Given the description of an element on the screen output the (x, y) to click on. 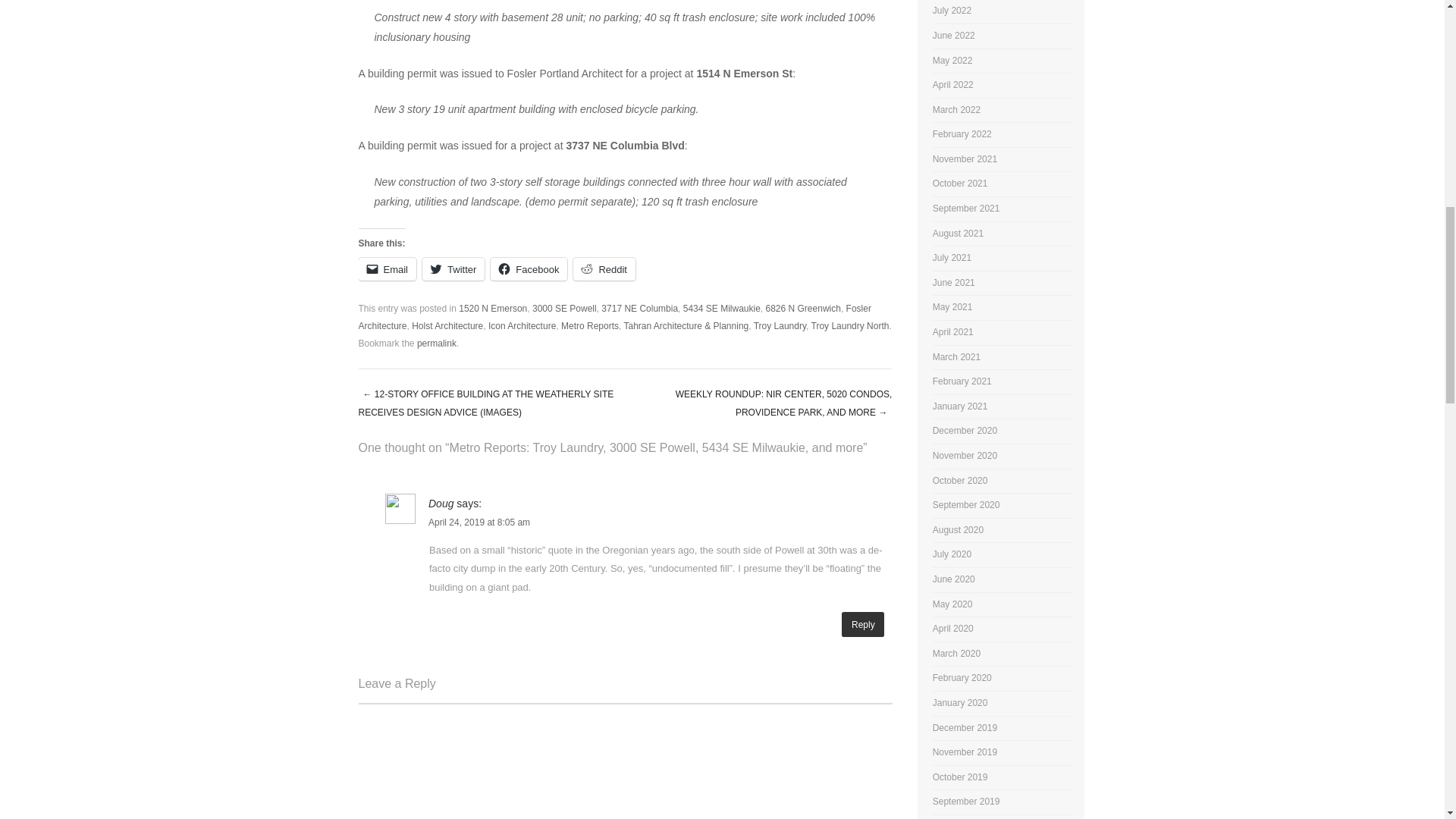
Troy Laundry (780, 326)
6826 N Greenwich (803, 308)
1520 N Emerson (492, 308)
Troy Laundry North (849, 326)
Click to share on Reddit (603, 268)
5434 SE Milwaukie (721, 308)
3000 SE Powell (564, 308)
April 24, 2019 at 8:05 am (478, 521)
permalink (436, 343)
Email (387, 268)
